Given the description of an element on the screen output the (x, y) to click on. 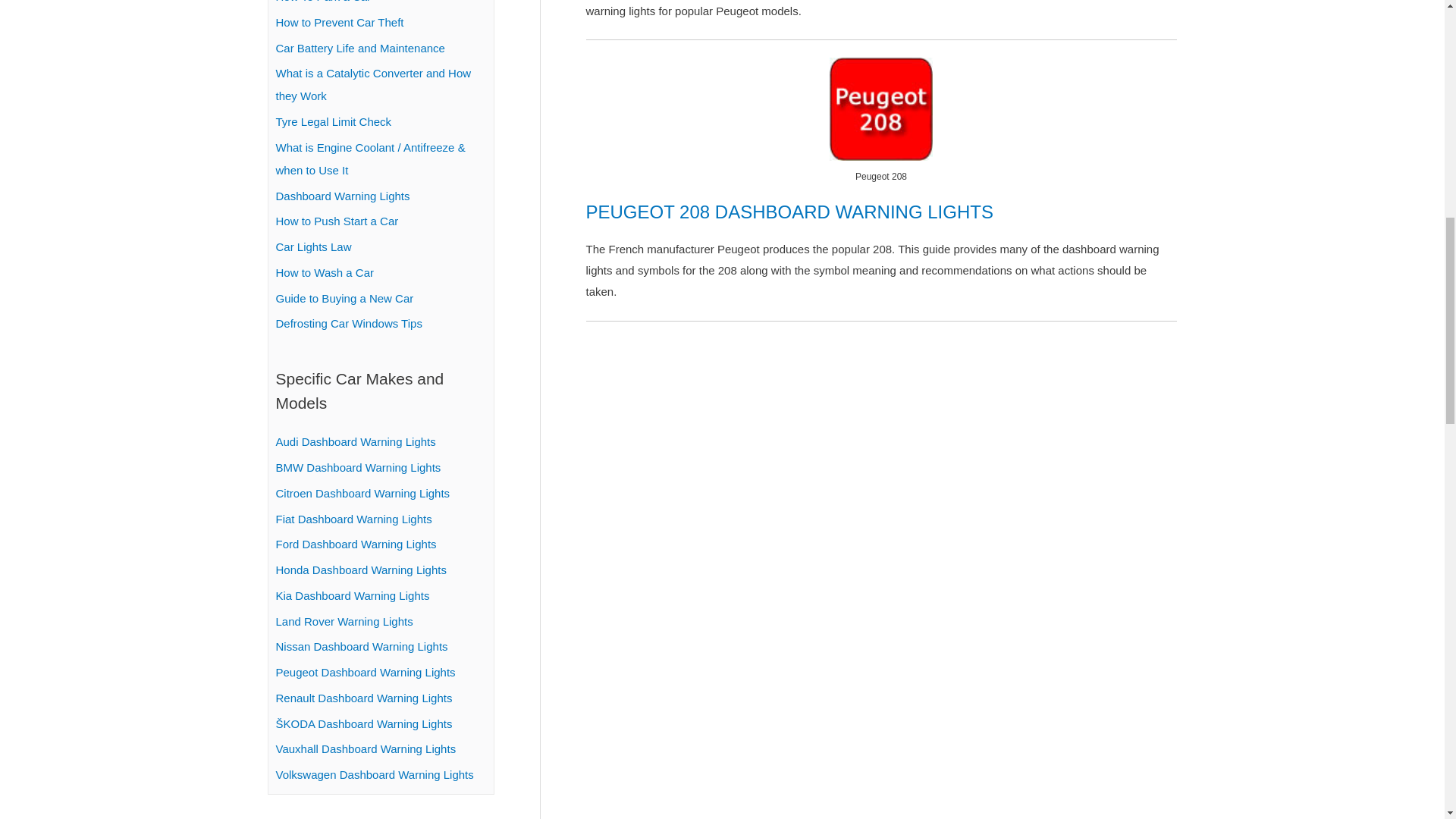
How to Prevent Car Theft (340, 21)
Honda Dashboard Warning Lights (361, 569)
How to Push Start a Car (337, 220)
Ford Dashboard Warning Lights (356, 543)
3rd party ad content (880, 706)
What is a Catalytic Converter and How they Work (373, 84)
Defrosting Car Windows Tips (349, 323)
How to Wash a Car (325, 272)
Guide to Buying a New Car (344, 297)
